Given the description of an element on the screen output the (x, y) to click on. 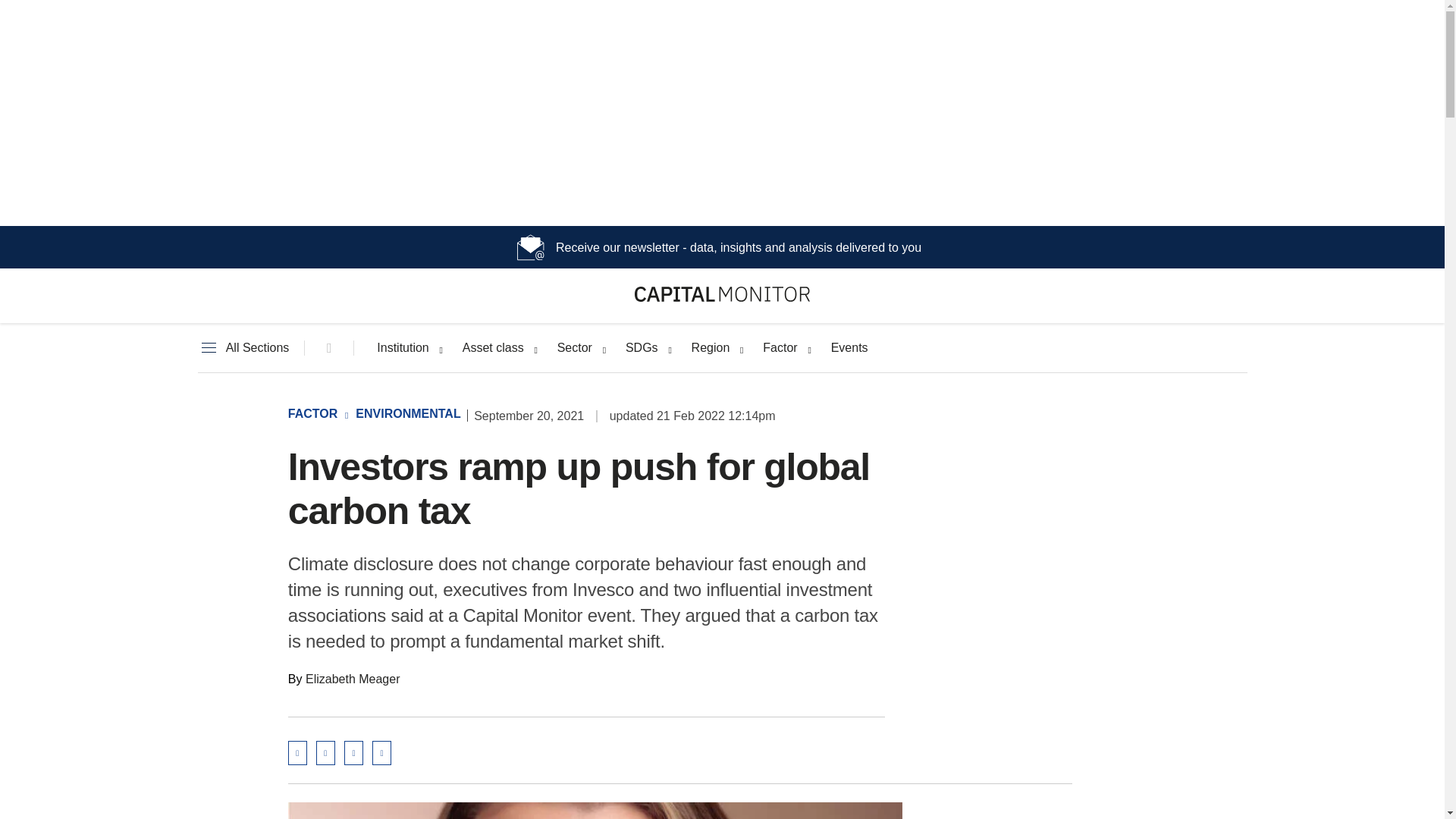
All Sections (242, 347)
Sector (574, 347)
SDGs (642, 347)
Capital Monitor (721, 297)
Asset class (493, 347)
Institution (402, 347)
